Given the description of an element on the screen output the (x, y) to click on. 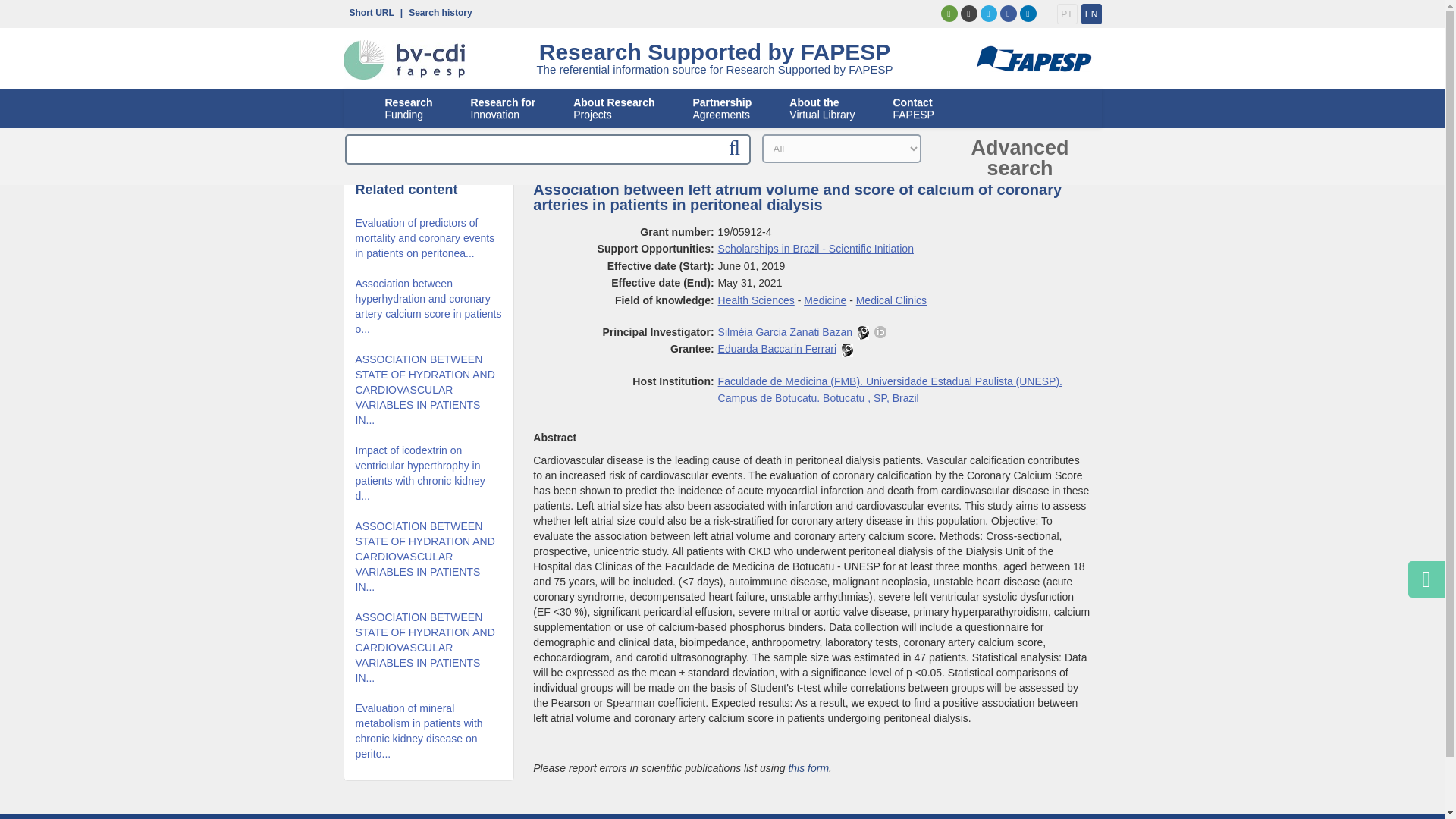
ORCID (880, 332)
Host Institution (889, 389)
Twitter (987, 13)
LinkedIn (1027, 13)
Short URL (503, 107)
PT (367, 10)
bv-cdi (1067, 14)
URL curto (403, 60)
Lattes Curriculum (367, 10)
Search history (847, 350)
Print (437, 10)
Lattes Curriculum (967, 13)
Email (863, 332)
EN (948, 13)
